Given the description of an element on the screen output the (x, y) to click on. 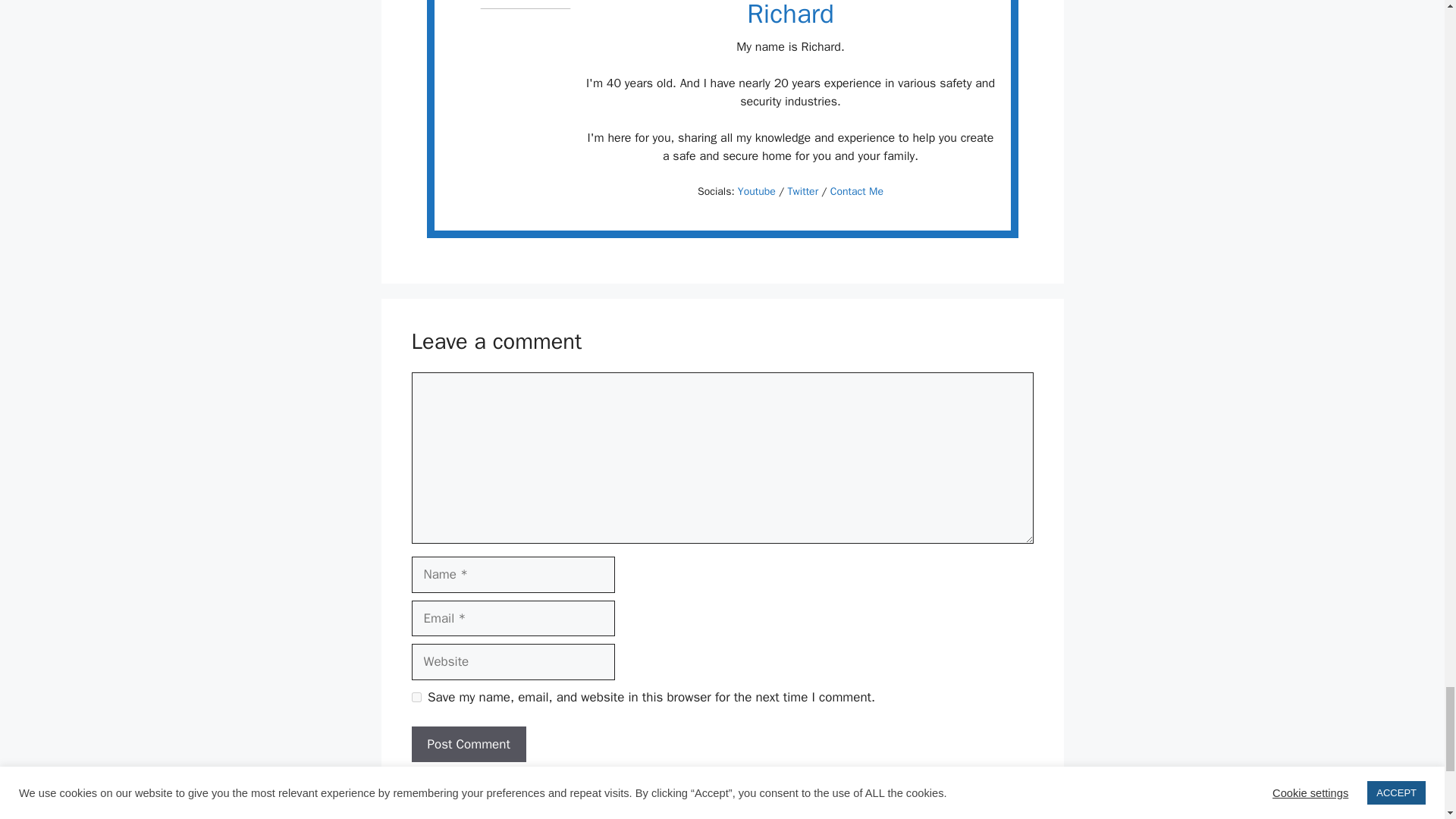
yes (415, 696)
Post Comment (467, 744)
